Given the description of an element on the screen output the (x, y) to click on. 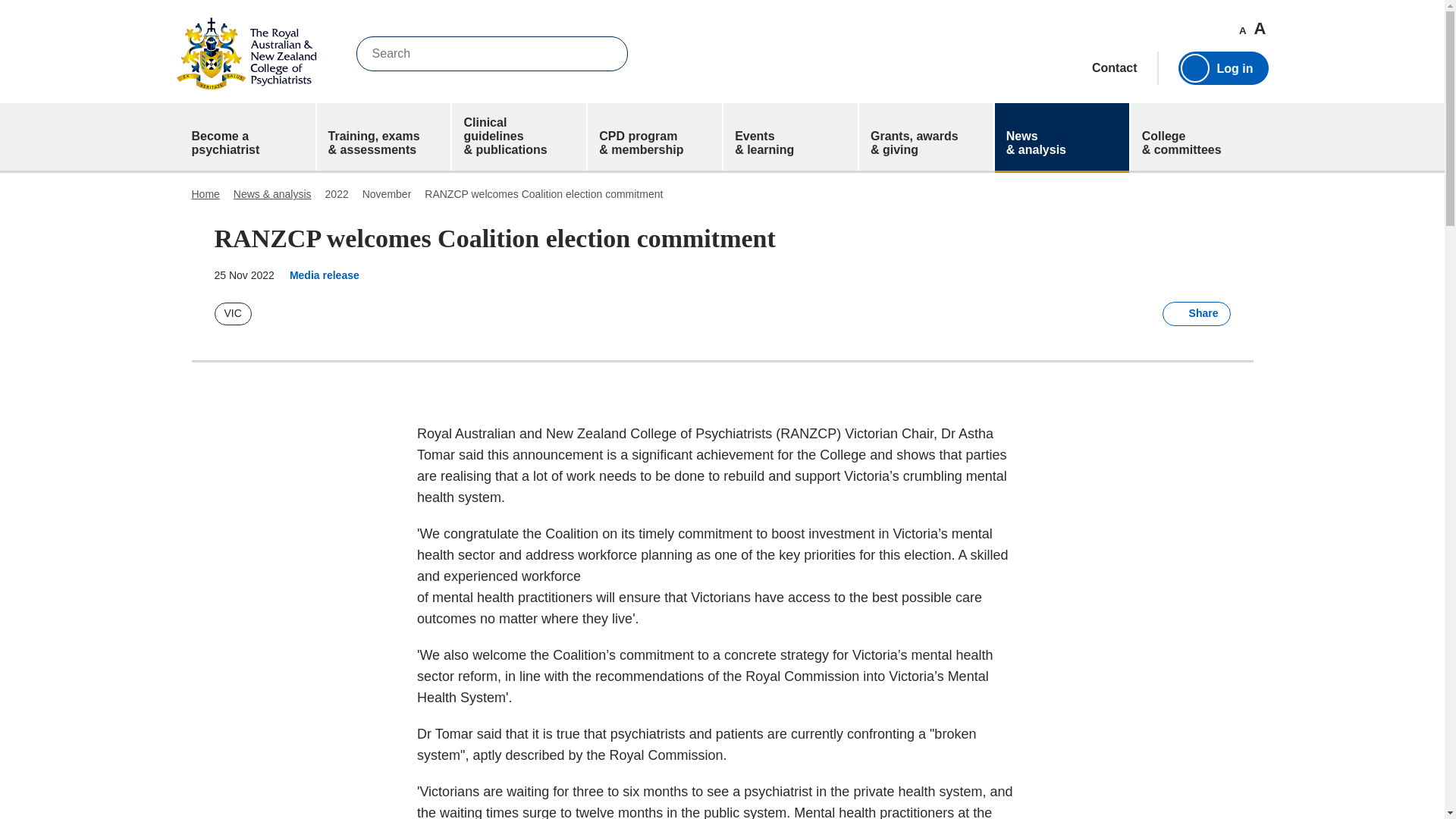
Become a psychiatrist (247, 136)
Contact (1114, 68)
RANZCP homepage (245, 53)
Log in (1222, 68)
A (1242, 30)
Search (605, 53)
